Given the description of an element on the screen output the (x, y) to click on. 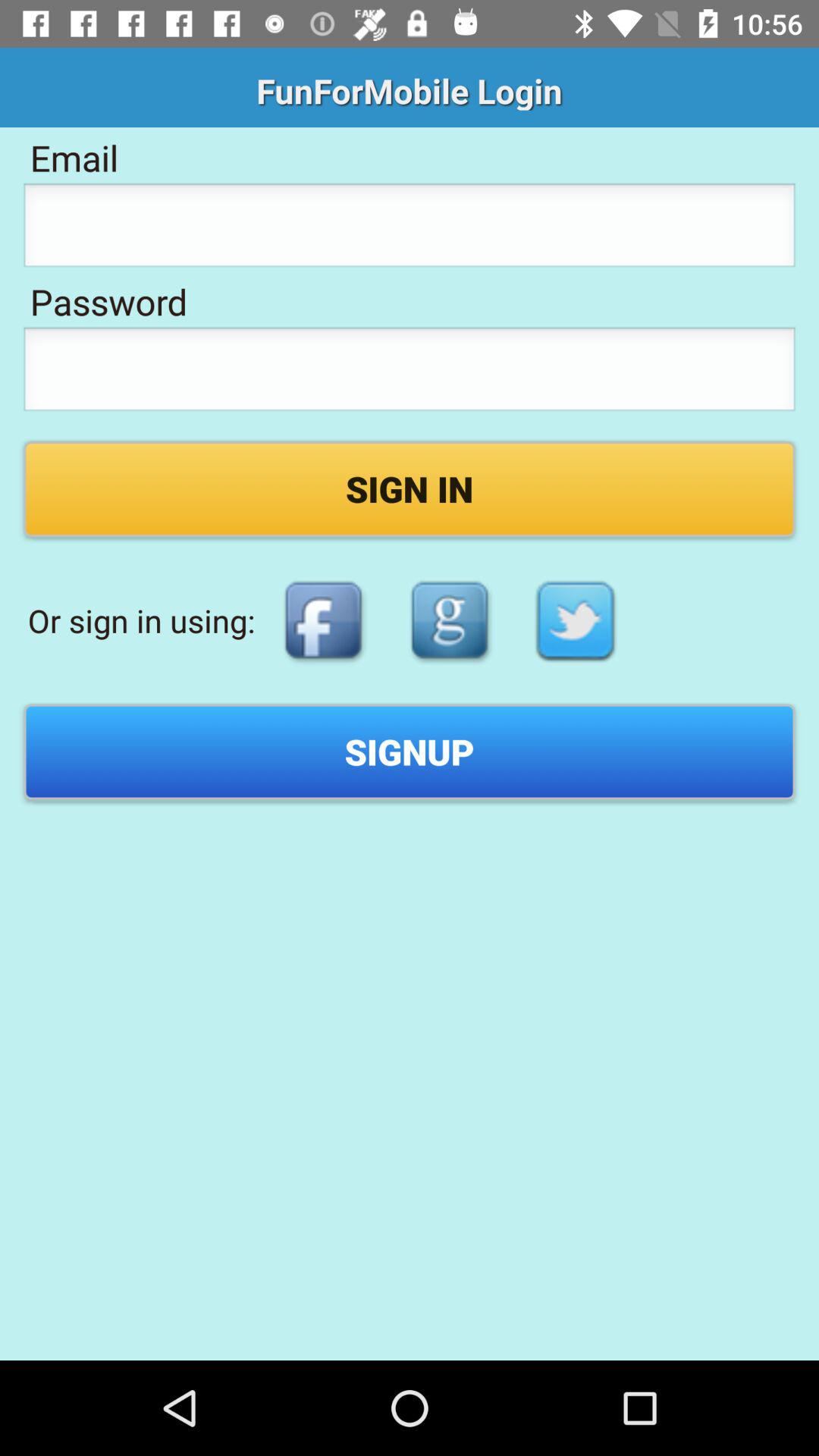
sign in facebook (323, 620)
